Given the description of an element on the screen output the (x, y) to click on. 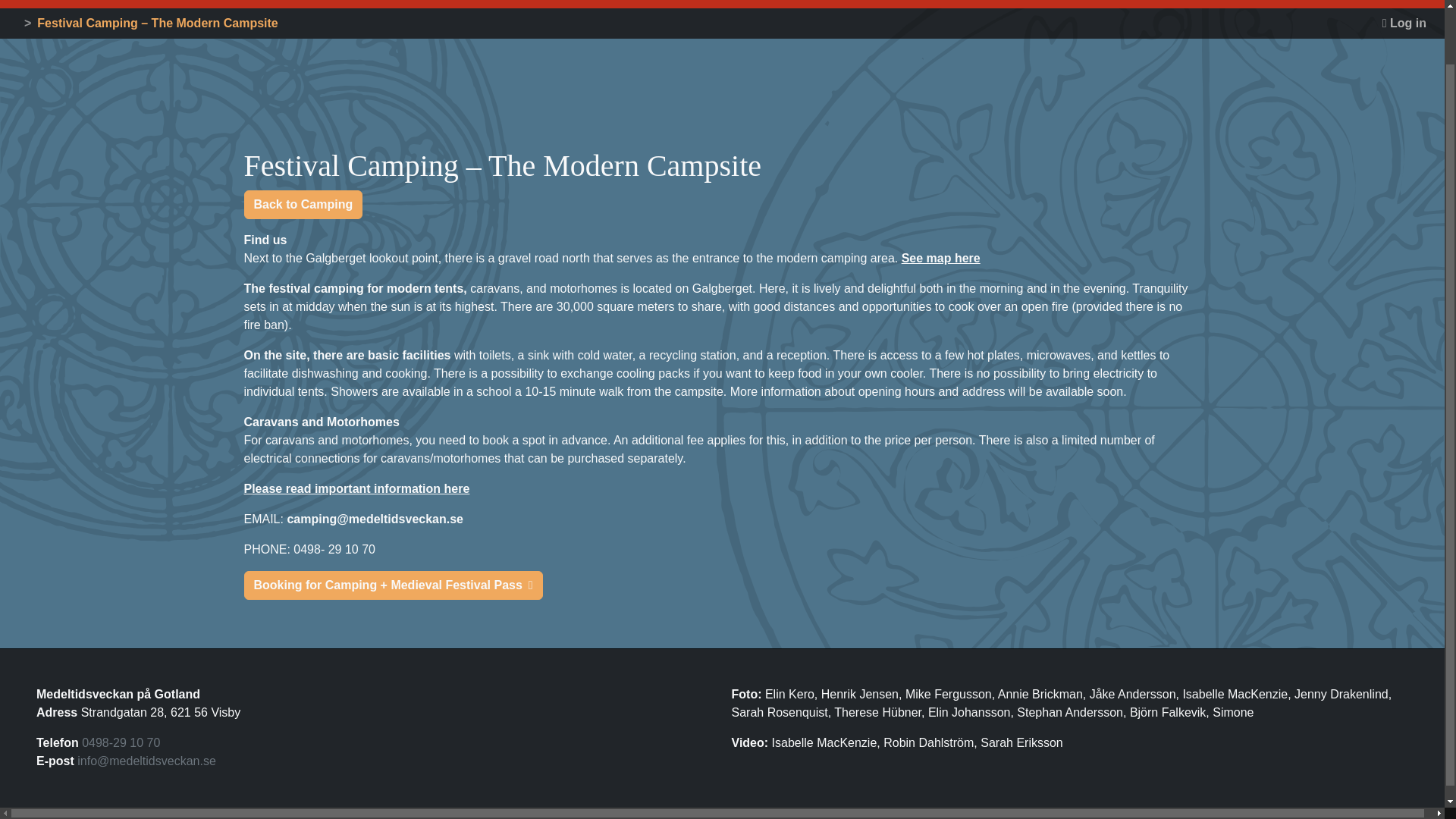
See map here (940, 257)
Log in (1403, 23)
0498-29 10 70 (120, 742)
Back to Camping (303, 204)
Please read important information here (357, 488)
Please read important information here (357, 488)
See map here (940, 257)
